Given the description of an element on the screen output the (x, y) to click on. 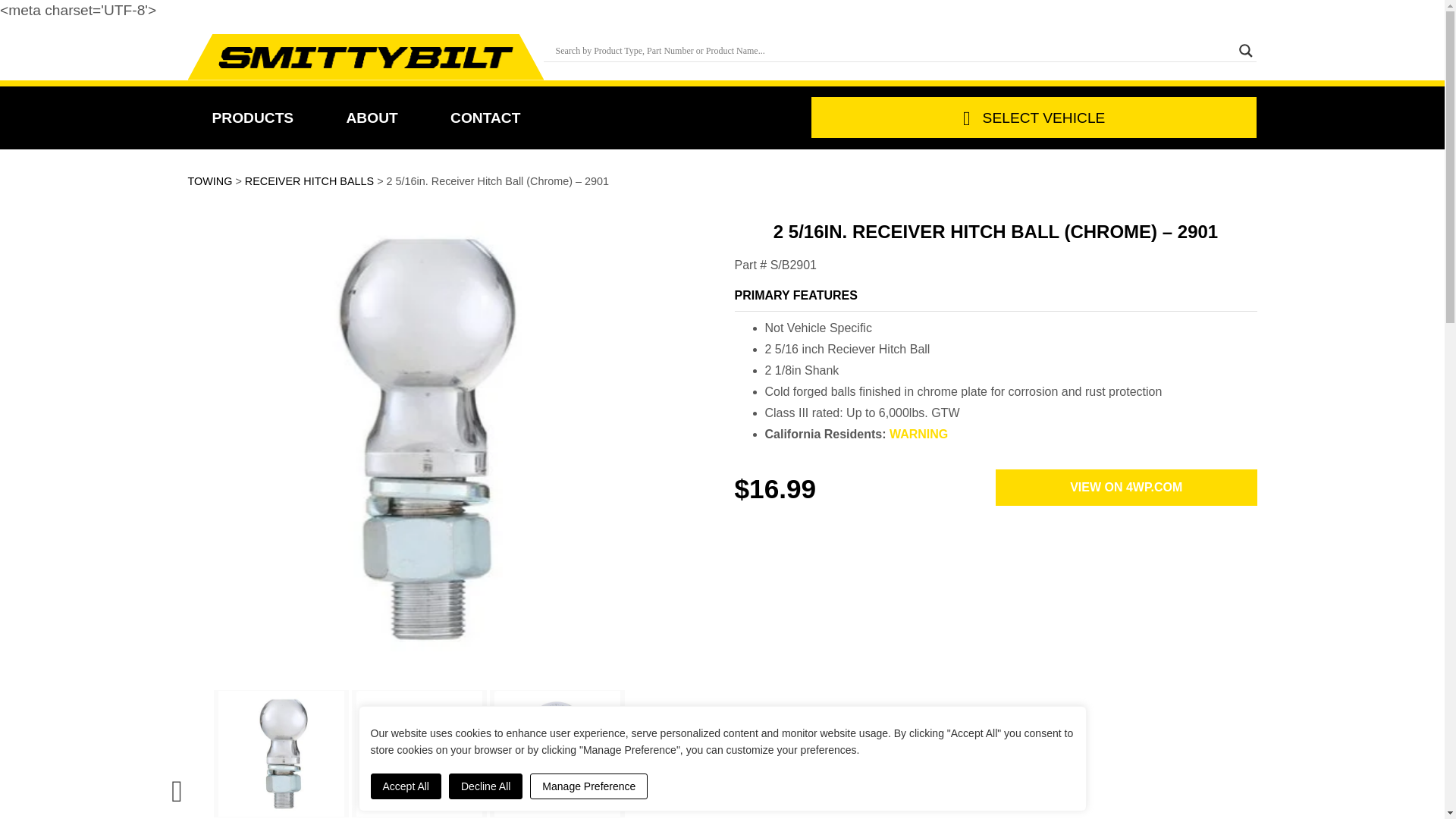
Previous (177, 783)
PRODUCTS (252, 117)
SELECT VEHICLE (1033, 117)
CONTACT (485, 117)
RECEIVER HITCH BALLS (309, 181)
TOWING (209, 181)
ABOUT (371, 117)
